Given the description of an element on the screen output the (x, y) to click on. 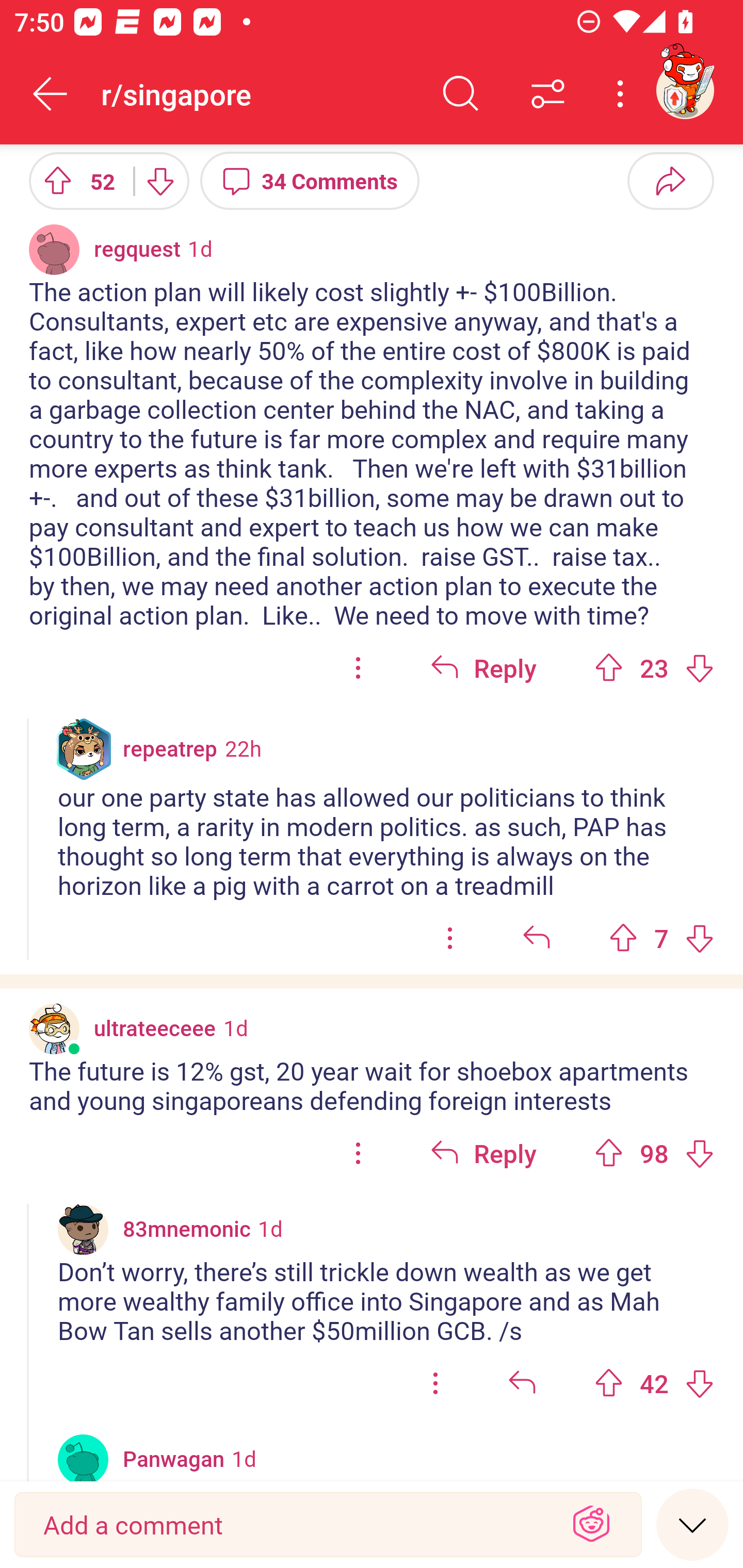
Back (50, 93)
TestAppium002 account (685, 90)
Search comments (460, 93)
Sort comments (547, 93)
More options (623, 93)
r/singapore (259, 92)
Upvote 52 (73, 180)
Downvote (158, 180)
34 Comments (309, 180)
Share (670, 180)
Avatar (53, 249)
options (358, 667)
Reply (483, 667)
Upvote 23 23 votes Downvote (654, 667)
options (449, 937)
Upvote 7 7 votes Downvote (661, 937)
Custom avatar (53, 1028)
options (358, 1153)
Reply (483, 1153)
Upvote 98 98 votes Downvote (654, 1153)
Custom avatar (82, 1229)
options (435, 1382)
Upvote 42 42 votes Downvote (654, 1382)
Avatar (82, 1457)
Speed read (692, 1524)
Add a comment (291, 1524)
Show Expressions (590, 1524)
